Given the description of an element on the screen output the (x, y) to click on. 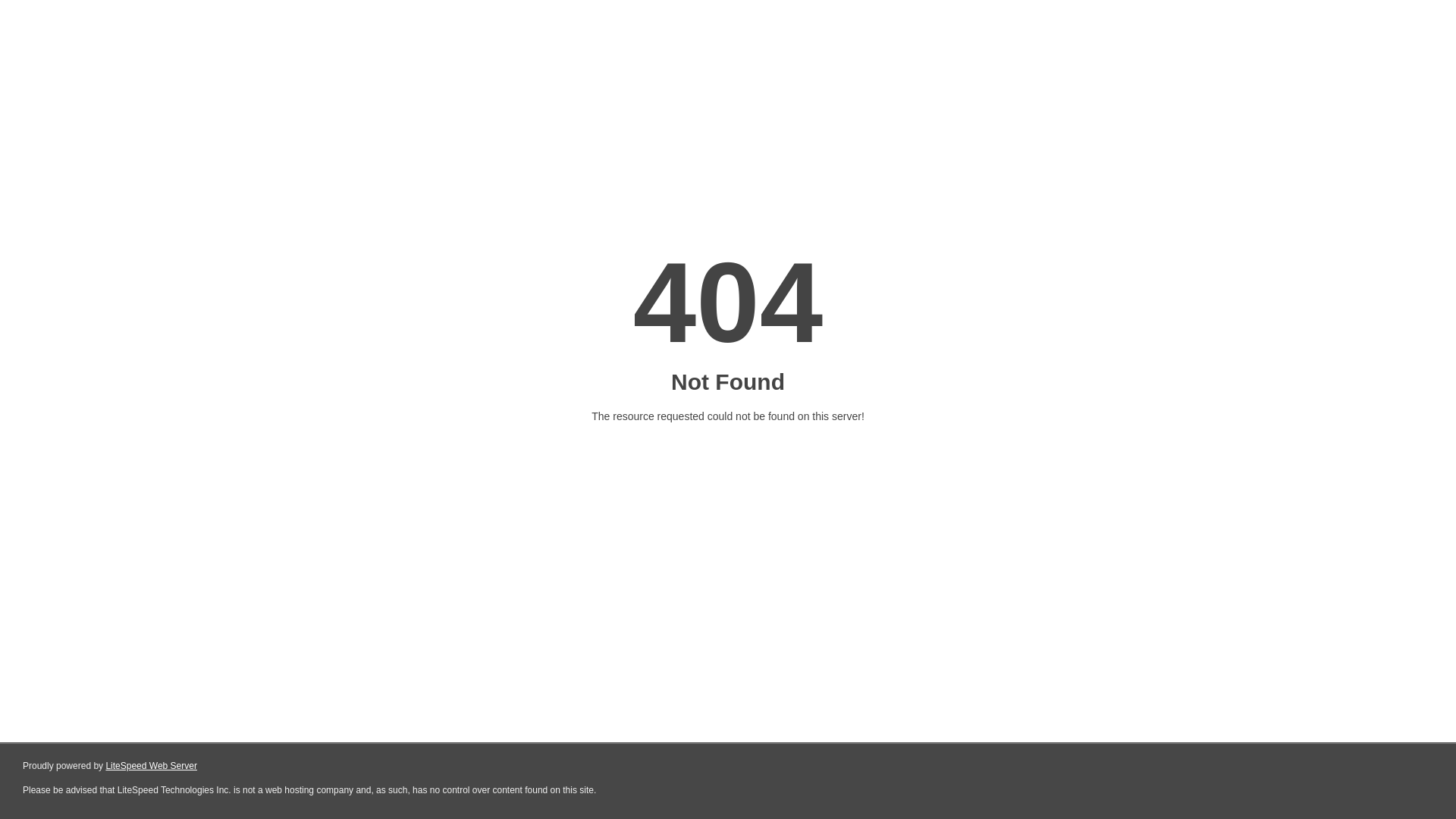
LiteSpeed Web Server Element type: text (151, 765)
